Given the description of an element on the screen output the (x, y) to click on. 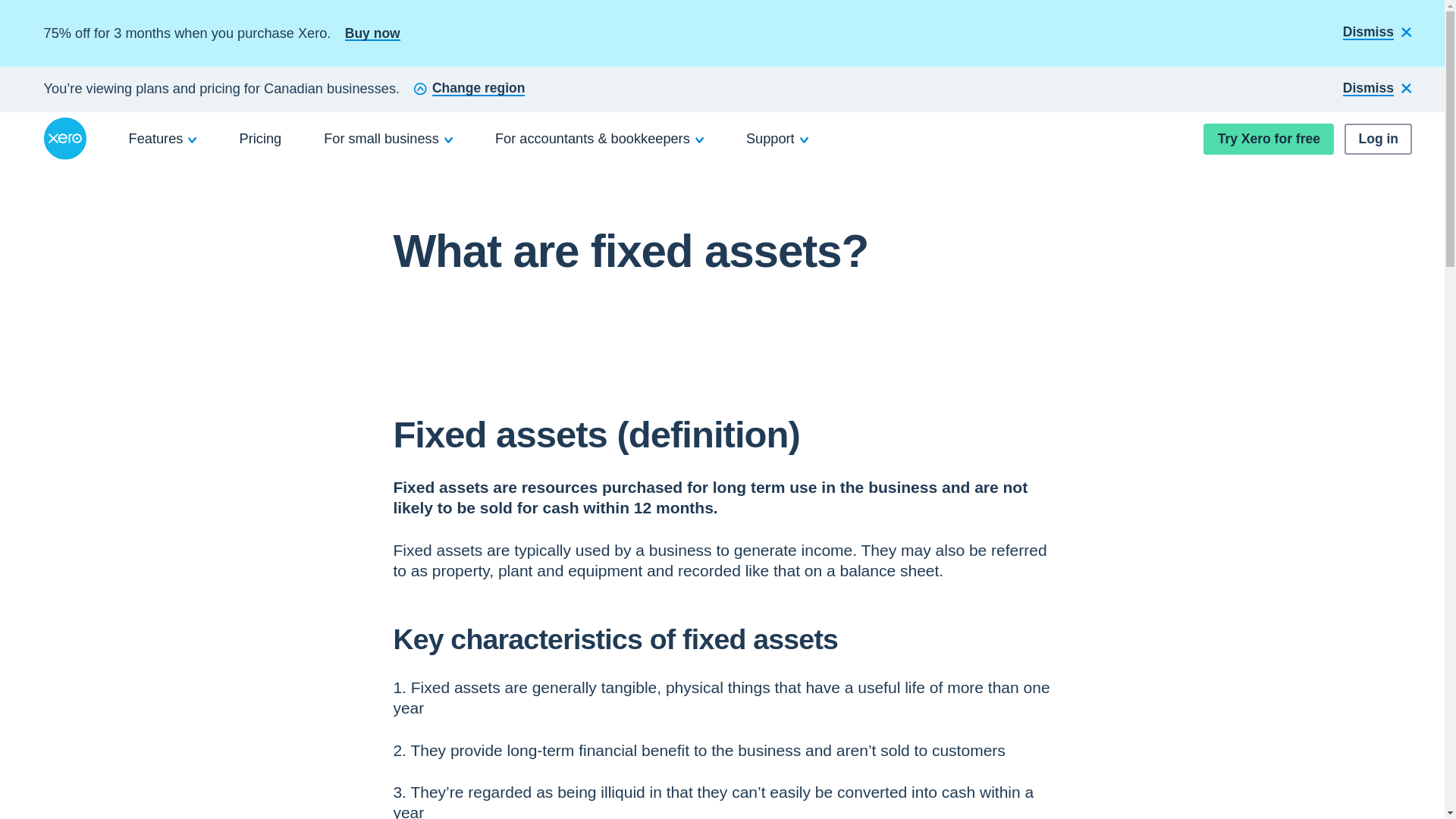
Dismiss (1377, 33)
Support (777, 138)
Change region (468, 89)
Try Xero for free (1268, 138)
Log in (1377, 138)
Features (162, 138)
For small business (388, 138)
Buy now (372, 32)
Pricing (260, 138)
Dismiss (1377, 89)
